Given the description of an element on the screen output the (x, y) to click on. 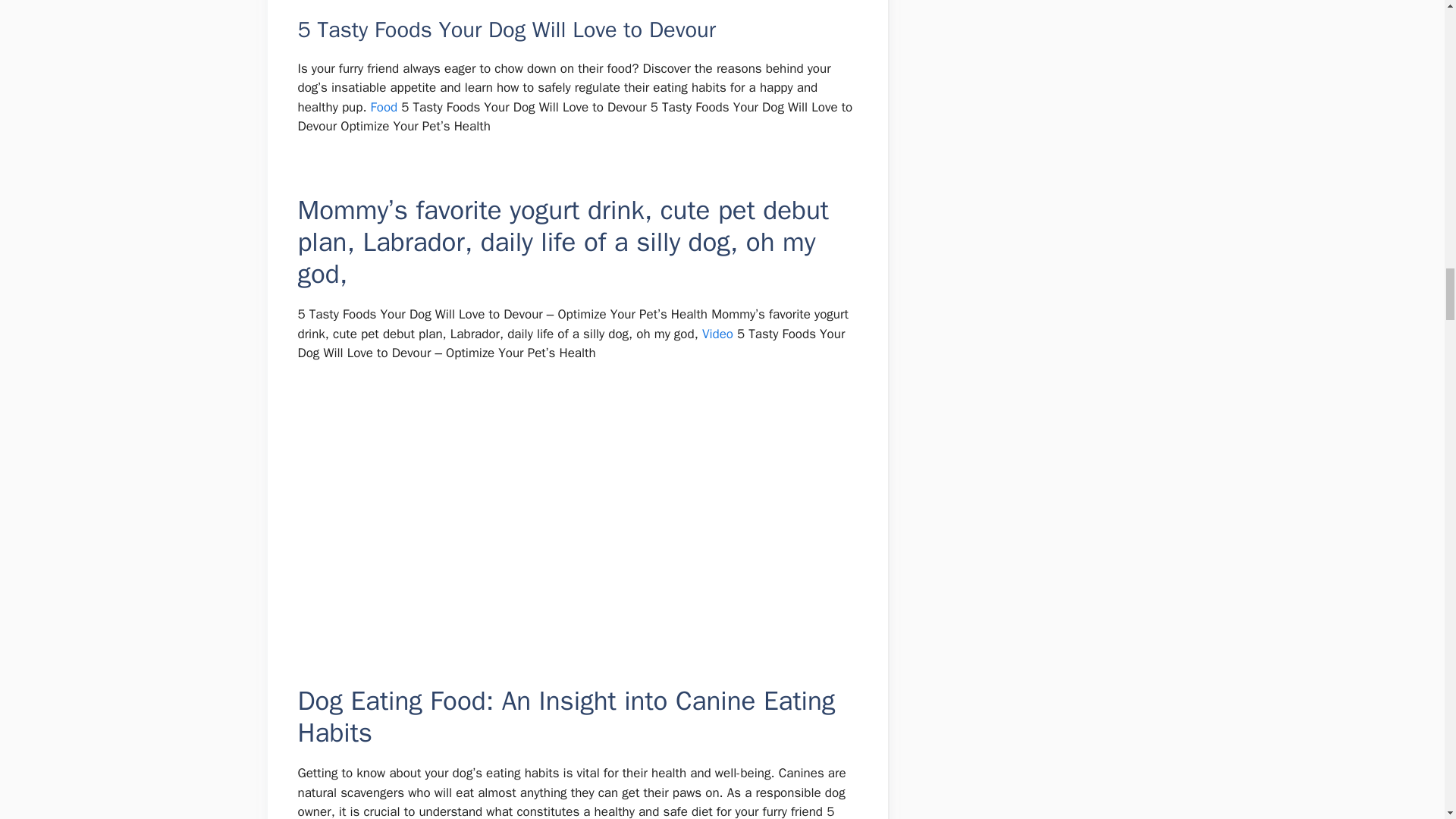
Food (384, 107)
Video (717, 333)
